Given the description of an element on the screen output the (x, y) to click on. 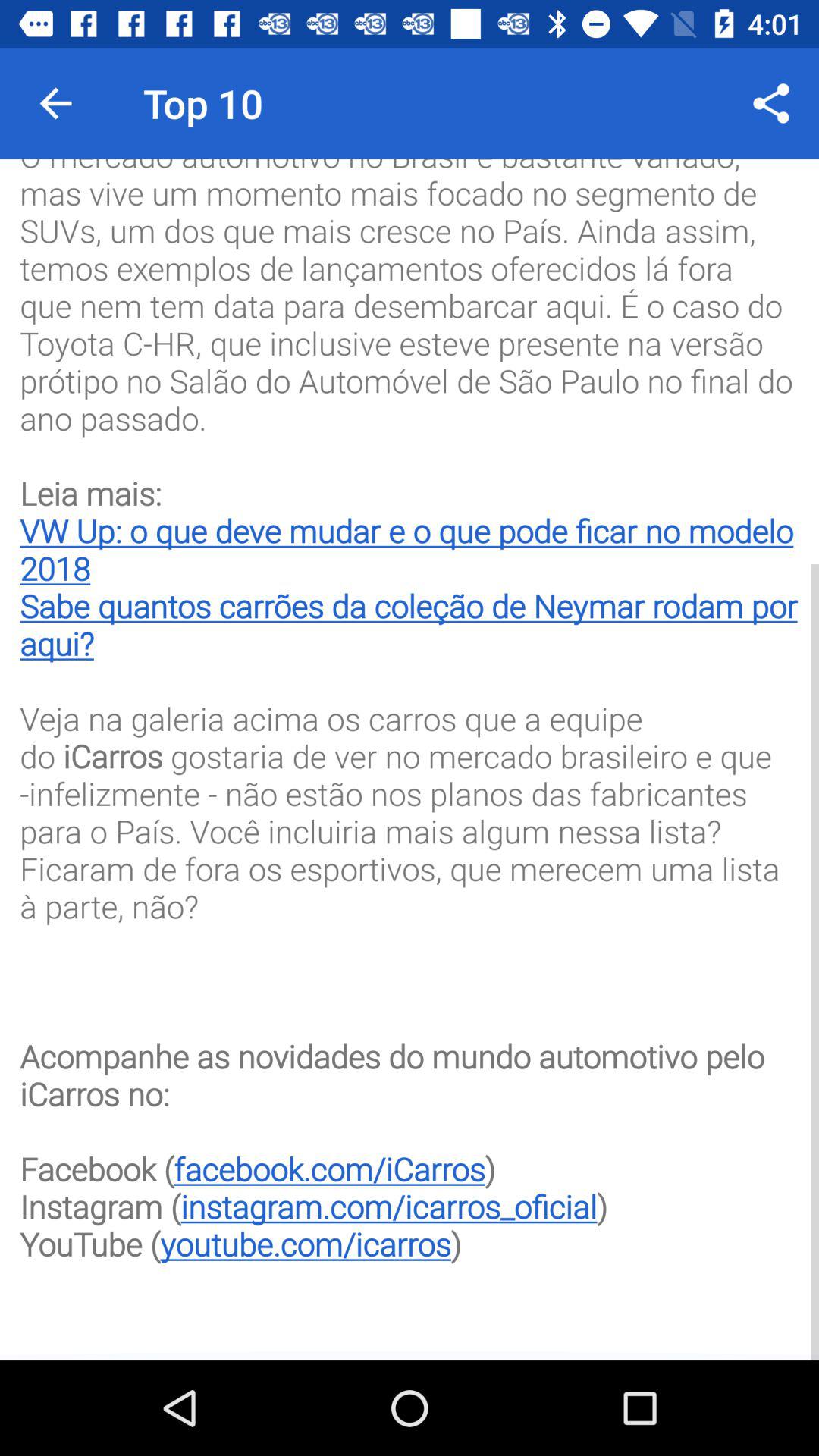
press the icon above the o mercado automotivo item (771, 103)
